Given the description of an element on the screen output the (x, y) to click on. 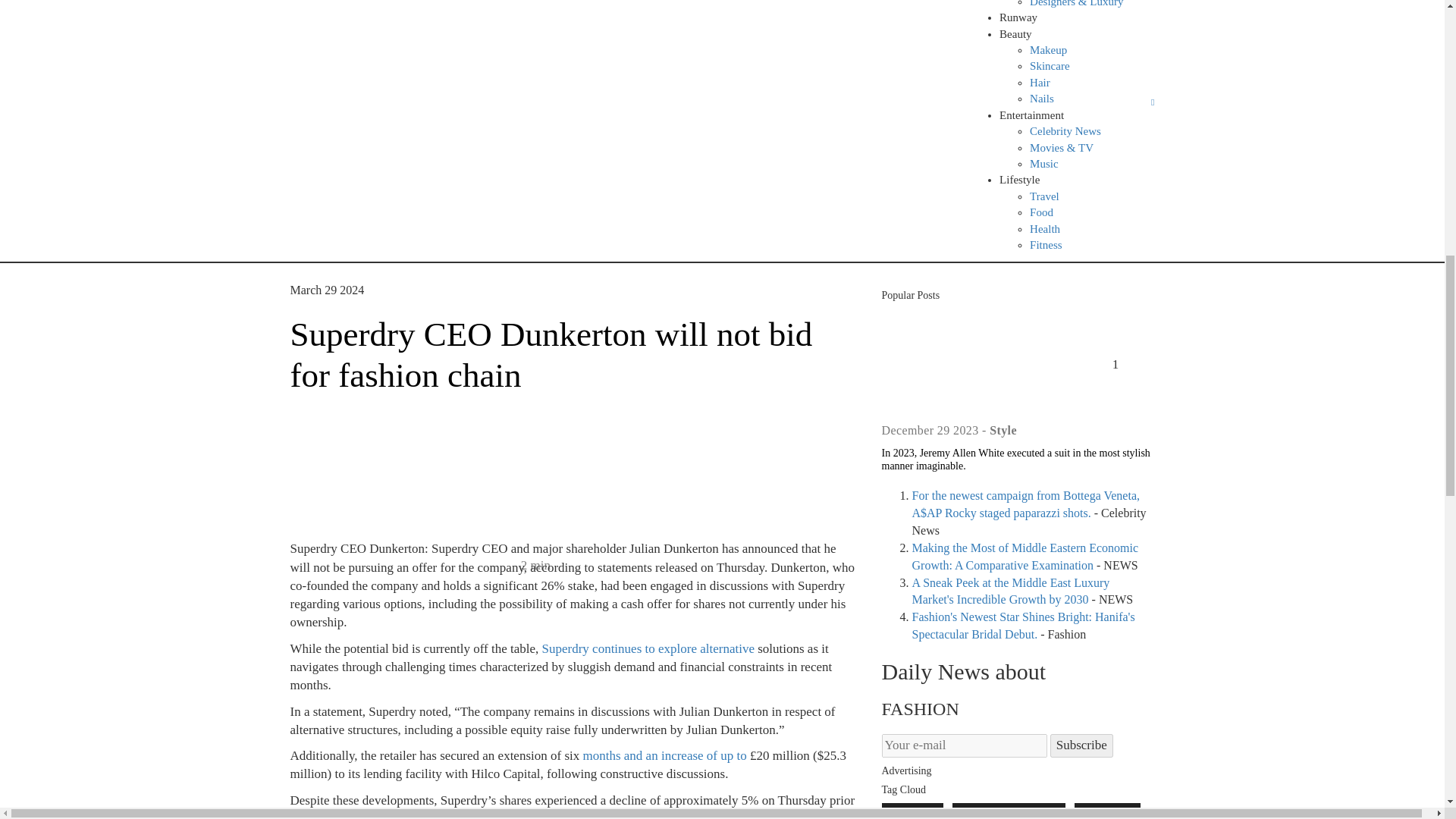
months and an increase of up to (664, 755)
Nails (1041, 98)
Lifestyle (1018, 179)
Beauty (1015, 33)
Runway (1017, 17)
Music (1043, 163)
Fitness (1045, 244)
Superdry continues to explore alternative (647, 648)
Entertainment (1031, 114)
Celebrity News (1064, 131)
